Given the description of an element on the screen output the (x, y) to click on. 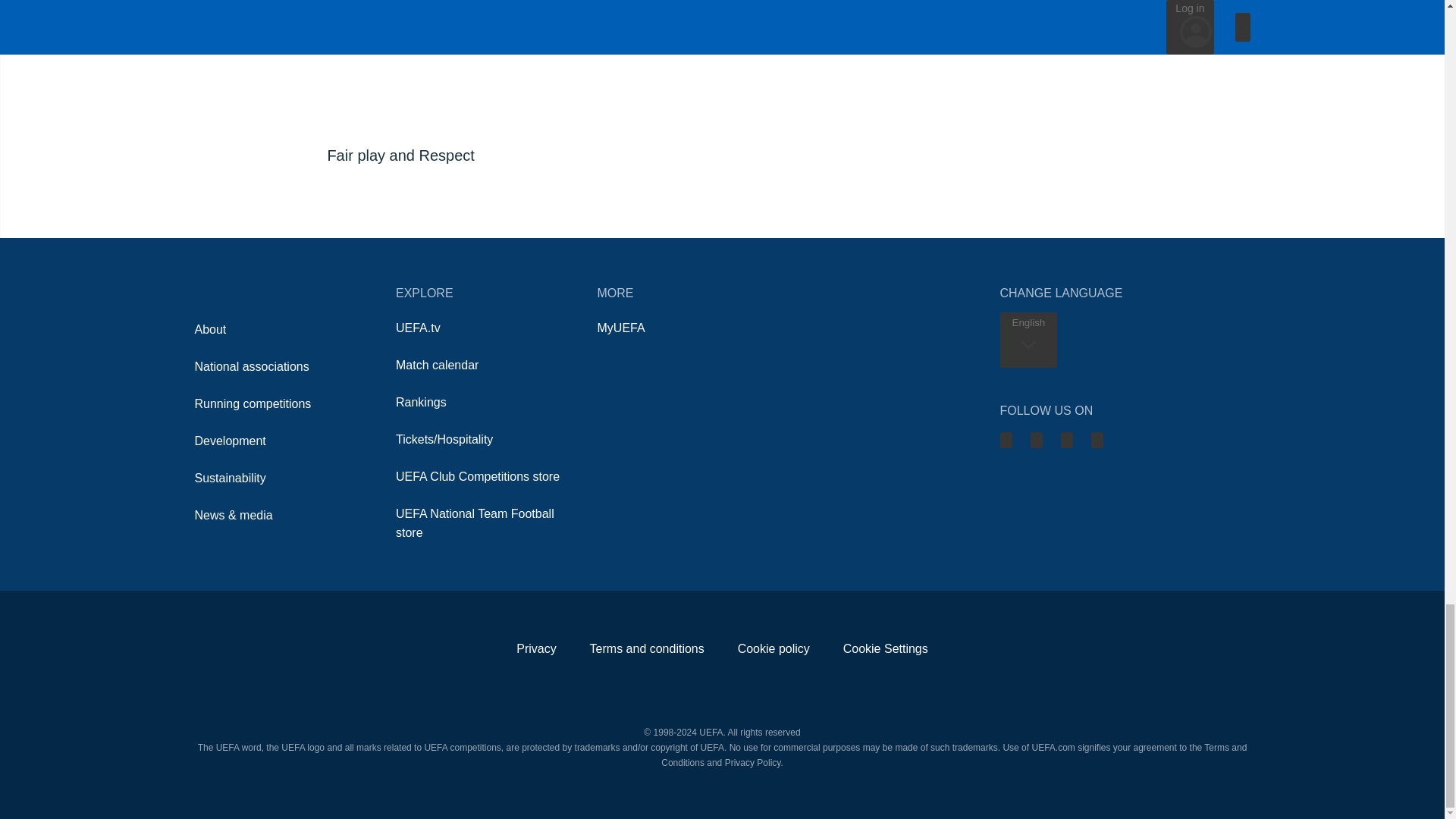
About (209, 328)
Running competitions (252, 403)
Cookie policy (773, 648)
Rankings (421, 401)
UEFA National Team Football store (475, 522)
Fair play and Respect (499, 88)
Sustainability (228, 477)
UEFA.org on Instagram (1065, 439)
Rankings (421, 401)
UEFA.org on Facebook (1035, 439)
